Given the description of an element on the screen output the (x, y) to click on. 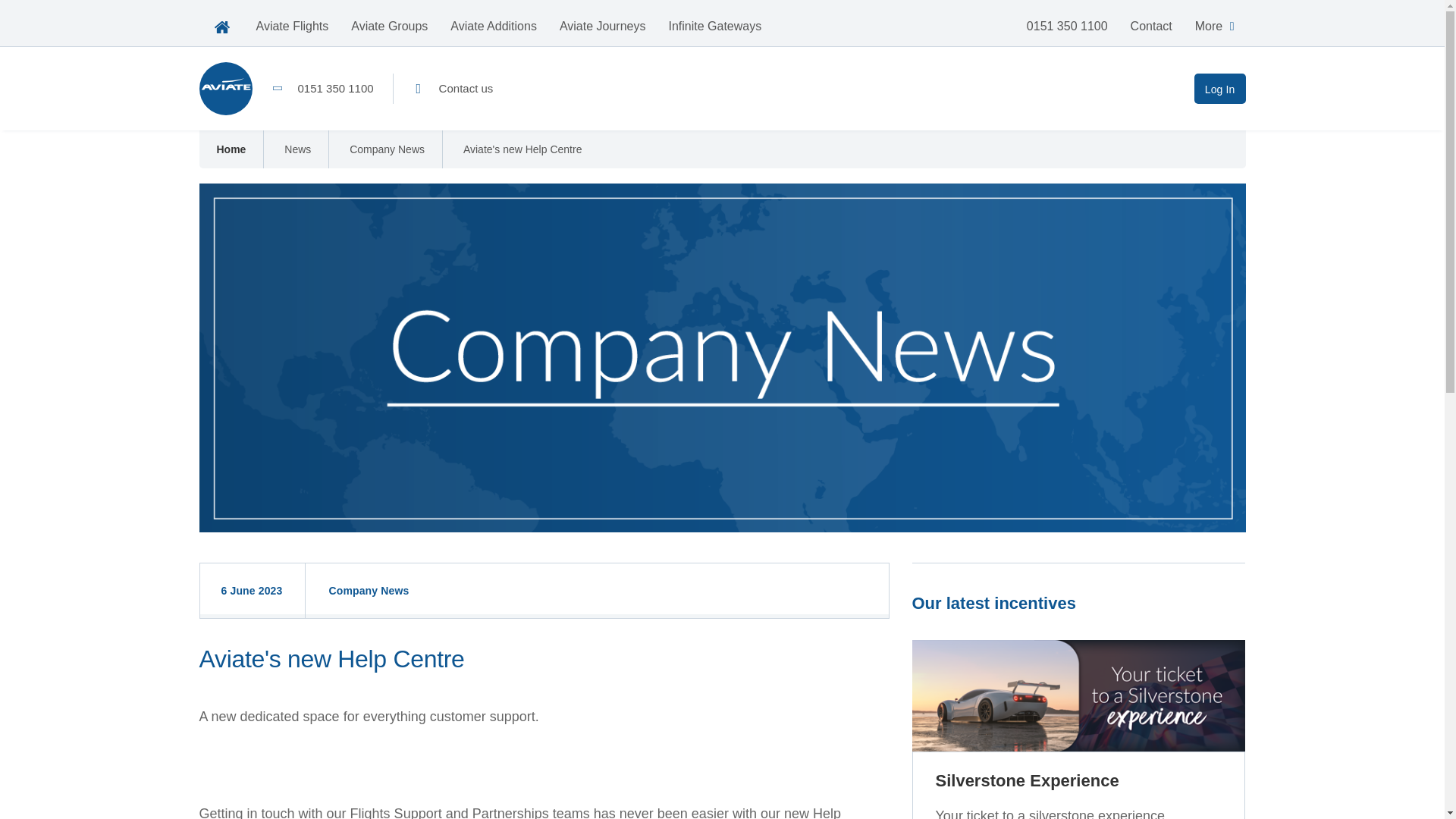
0151 350 1100 (1066, 26)
Company News (386, 149)
0151 350 1100 (321, 88)
Infinite Gateways (714, 26)
Aviate Groups (389, 26)
Contact (1151, 26)
Aviate's new Help Centre (522, 149)
Aviate Flights (291, 26)
Aviate Journeys (603, 26)
Home (230, 149)
News (297, 149)
Log In (1219, 88)
More (1214, 26)
Aviate Additions (493, 26)
